Given the description of an element on the screen output the (x, y) to click on. 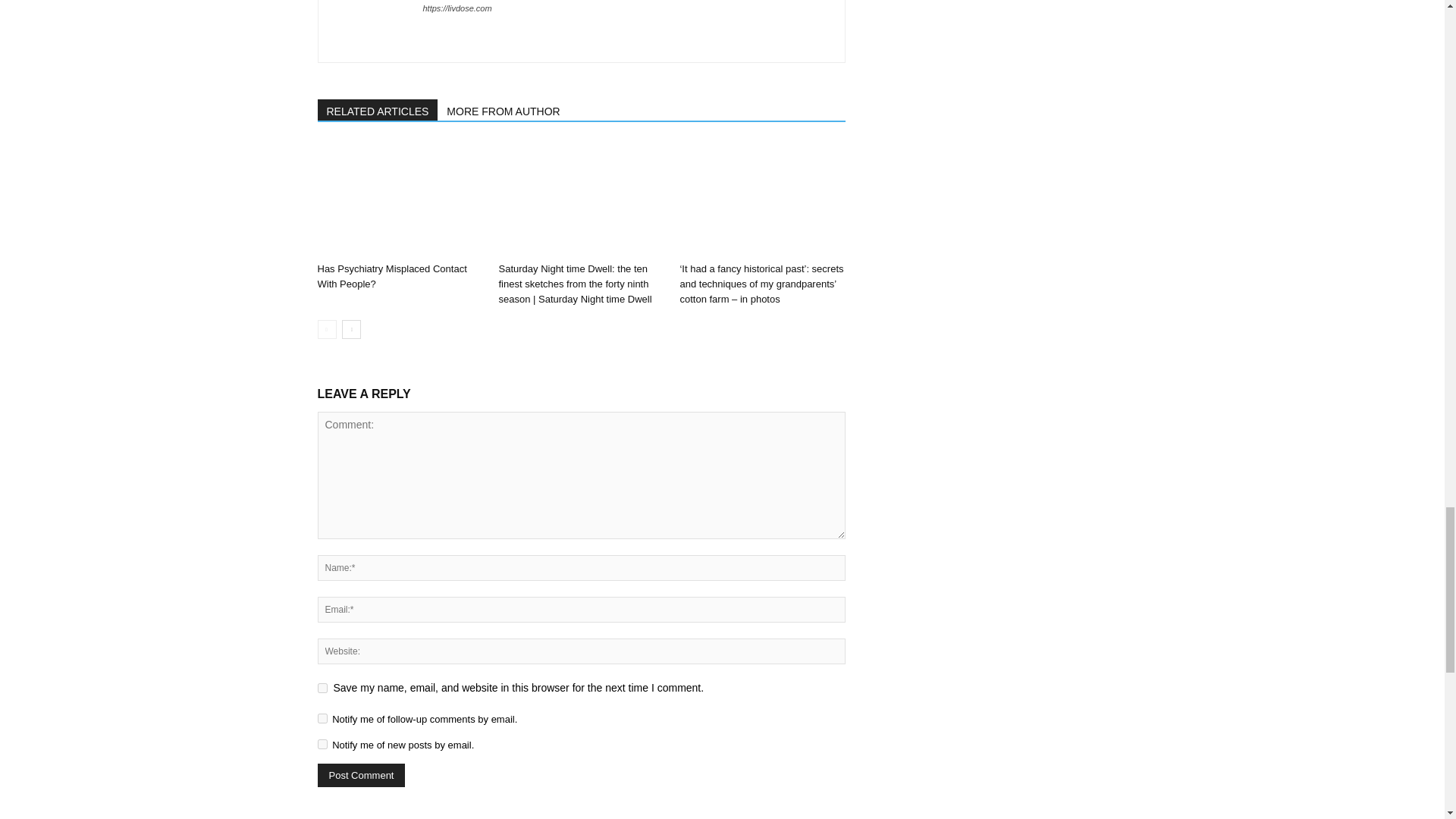
yes (321, 687)
subscribe (321, 744)
Post Comment (360, 775)
subscribe (321, 718)
